Given the description of an element on the screen output the (x, y) to click on. 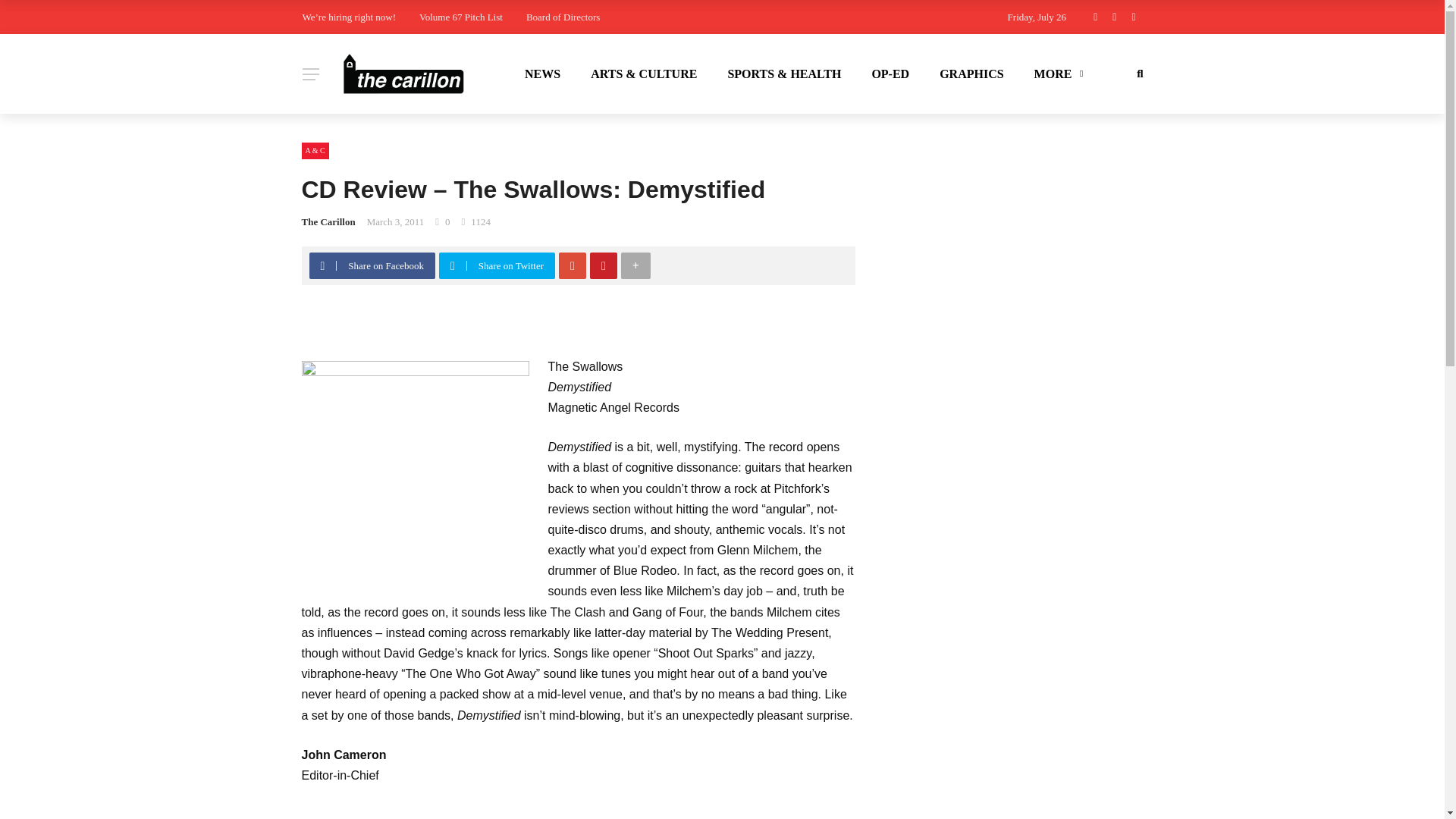
GRAPHICS (970, 73)
Volume 67 Pitch List (460, 16)
Board of Directors (562, 16)
MORE (1056, 73)
